Given the description of an element on the screen output the (x, y) to click on. 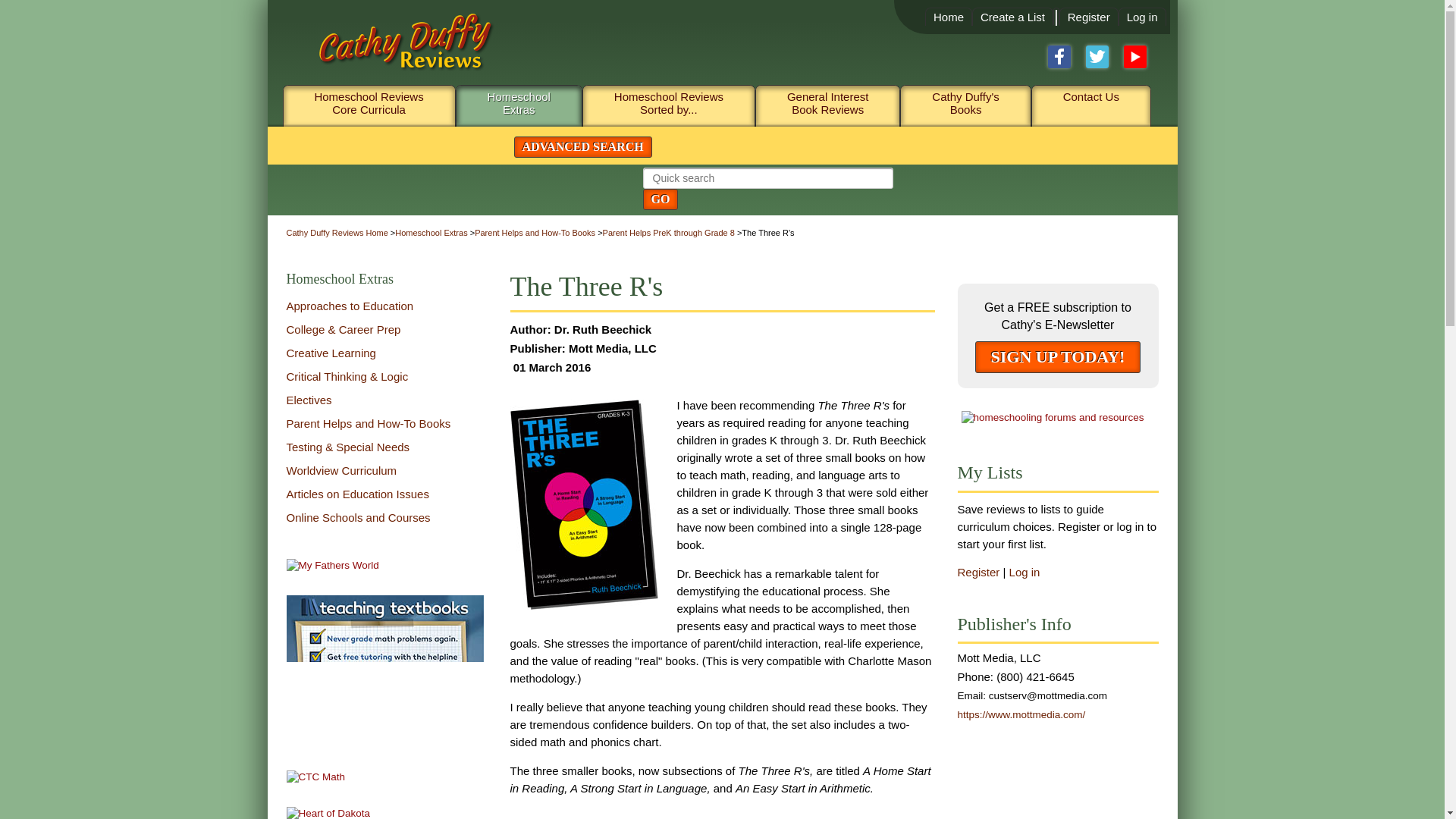
Log in (1141, 16)
Published by  (601, 348)
Teaching Textbooks (384, 670)
Register (1088, 16)
Home (948, 16)
Create a List (1012, 16)
Written by  (601, 329)
My Fathers World (332, 564)
GoGrouple.com (1052, 417)
chris (316, 776)
